Given the description of an element on the screen output the (x, y) to click on. 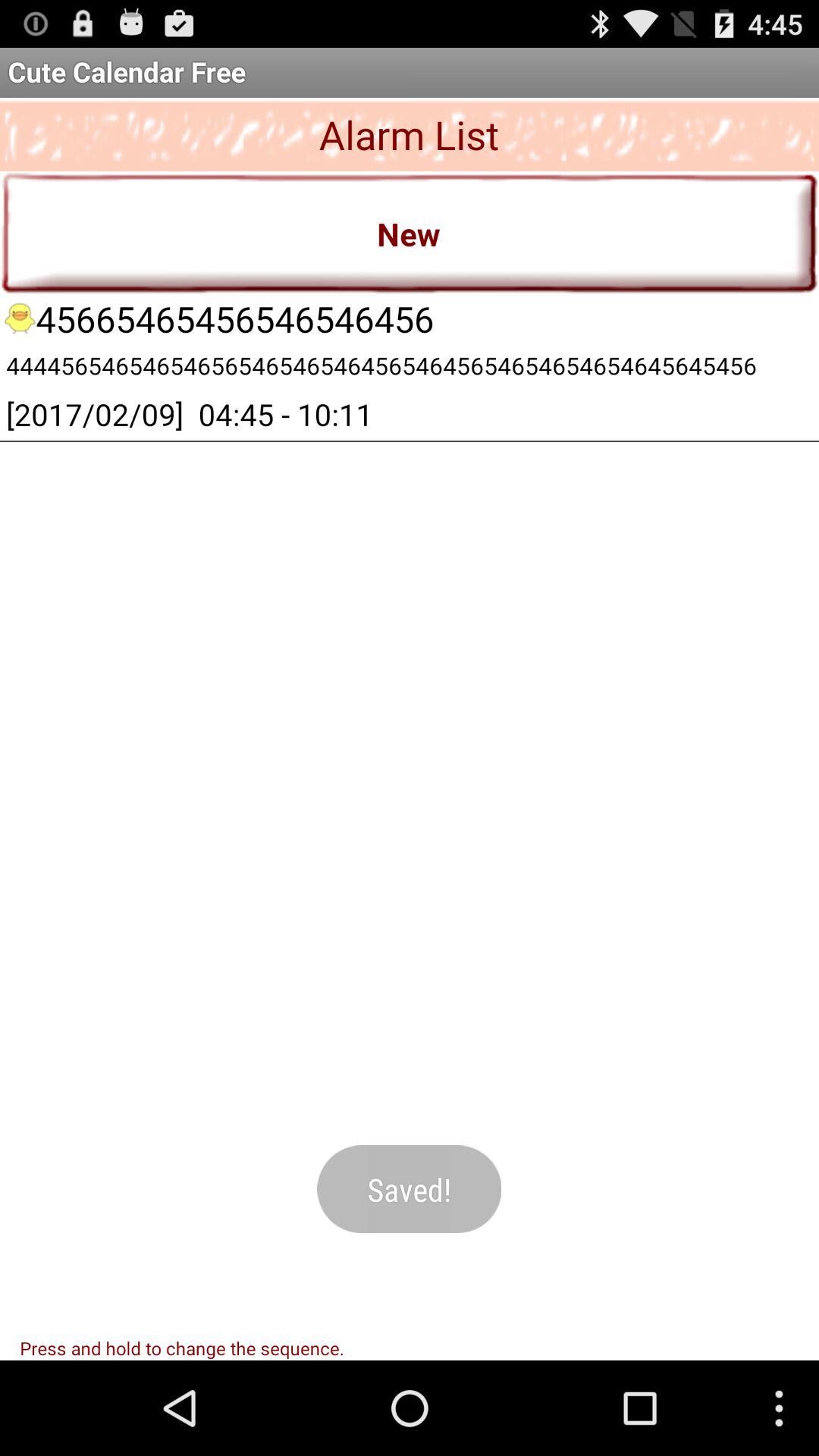
click the app below alarm list icon (409, 232)
